Given the description of an element on the screen output the (x, y) to click on. 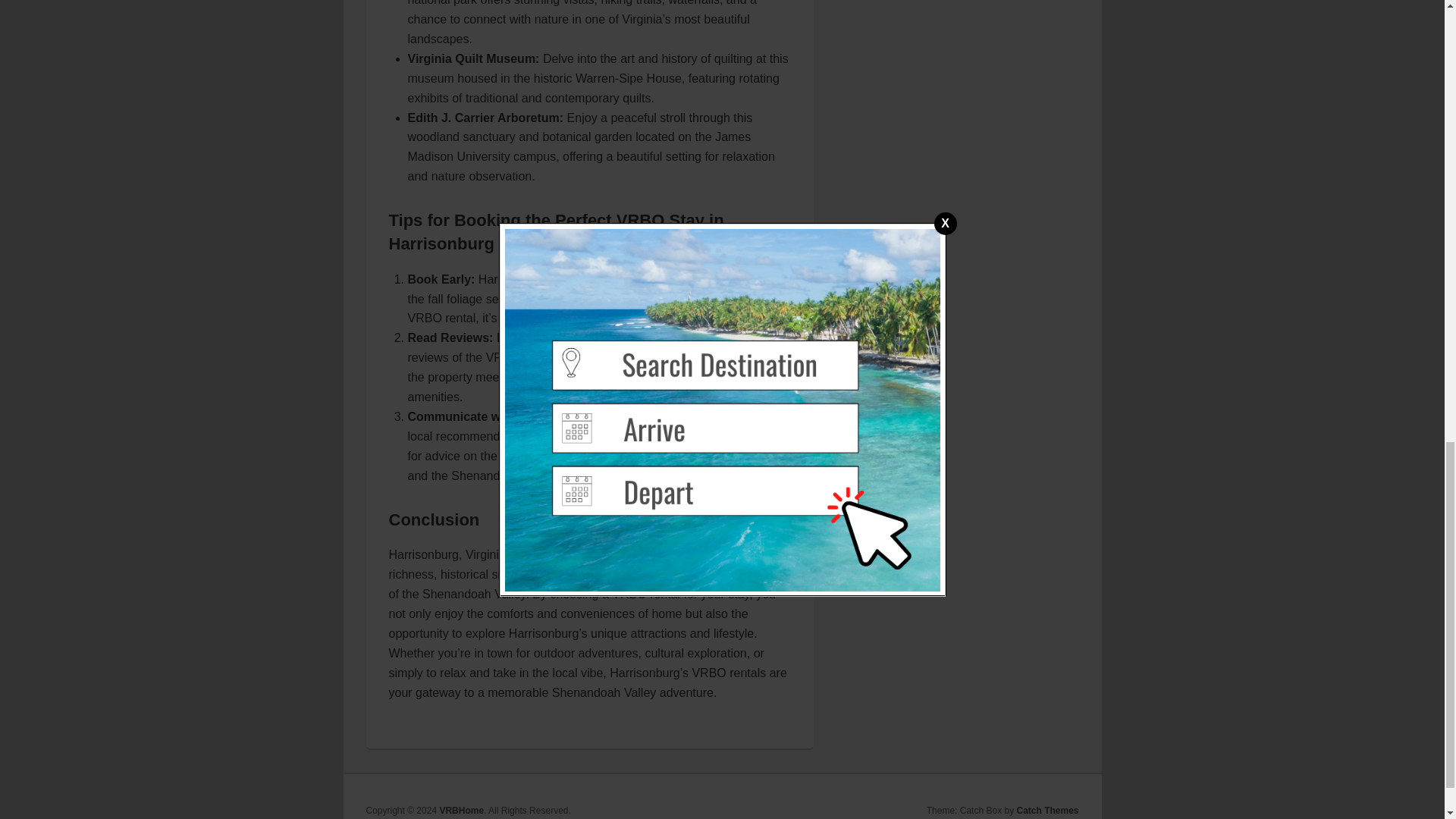
Catch Themes (1047, 810)
VRBHome (461, 810)
Catch Themes (1047, 810)
VRBHome (461, 810)
